Given the description of an element on the screen output the (x, y) to click on. 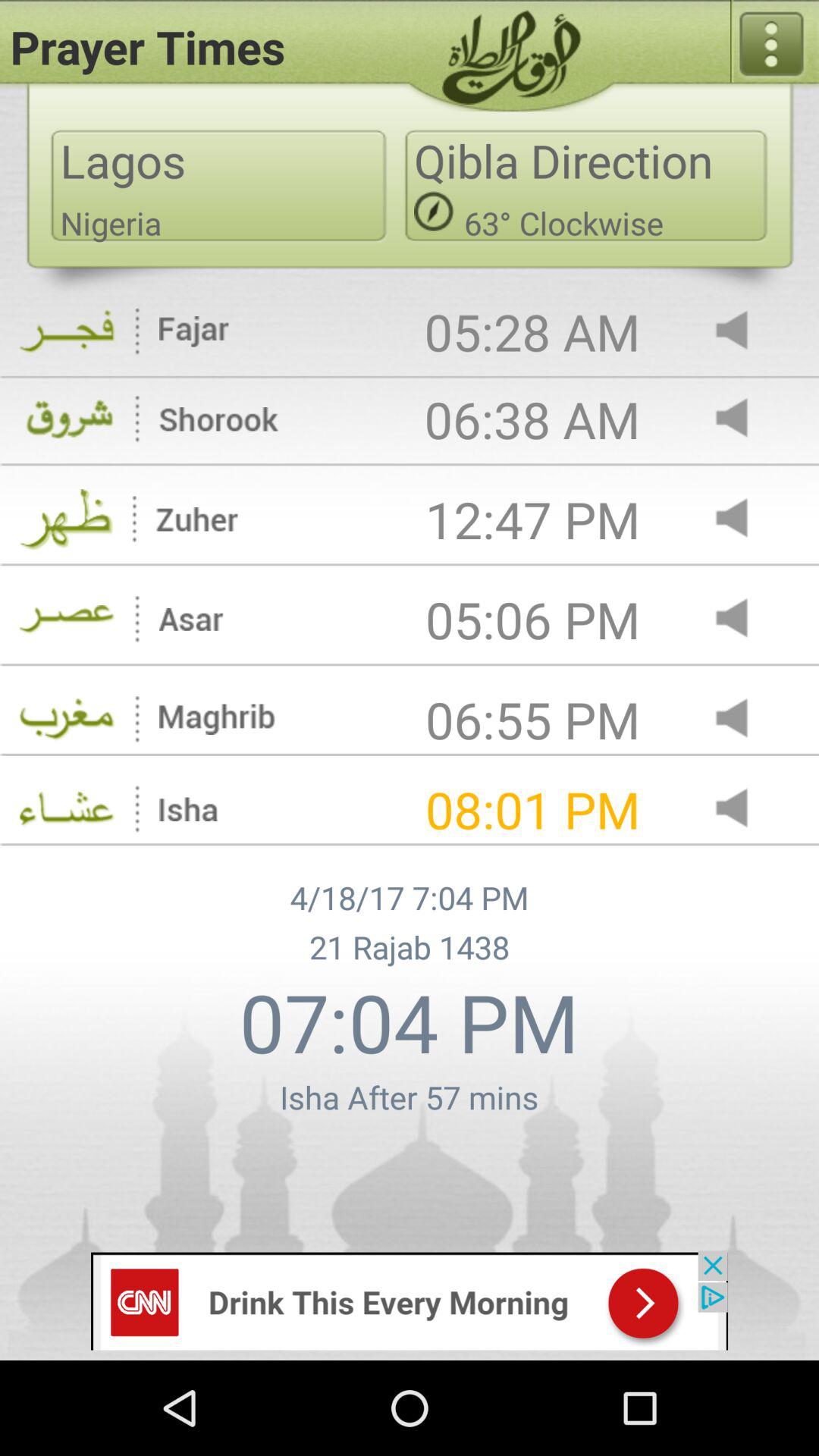
play sound (744, 619)
